Given the description of an element on the screen output the (x, y) to click on. 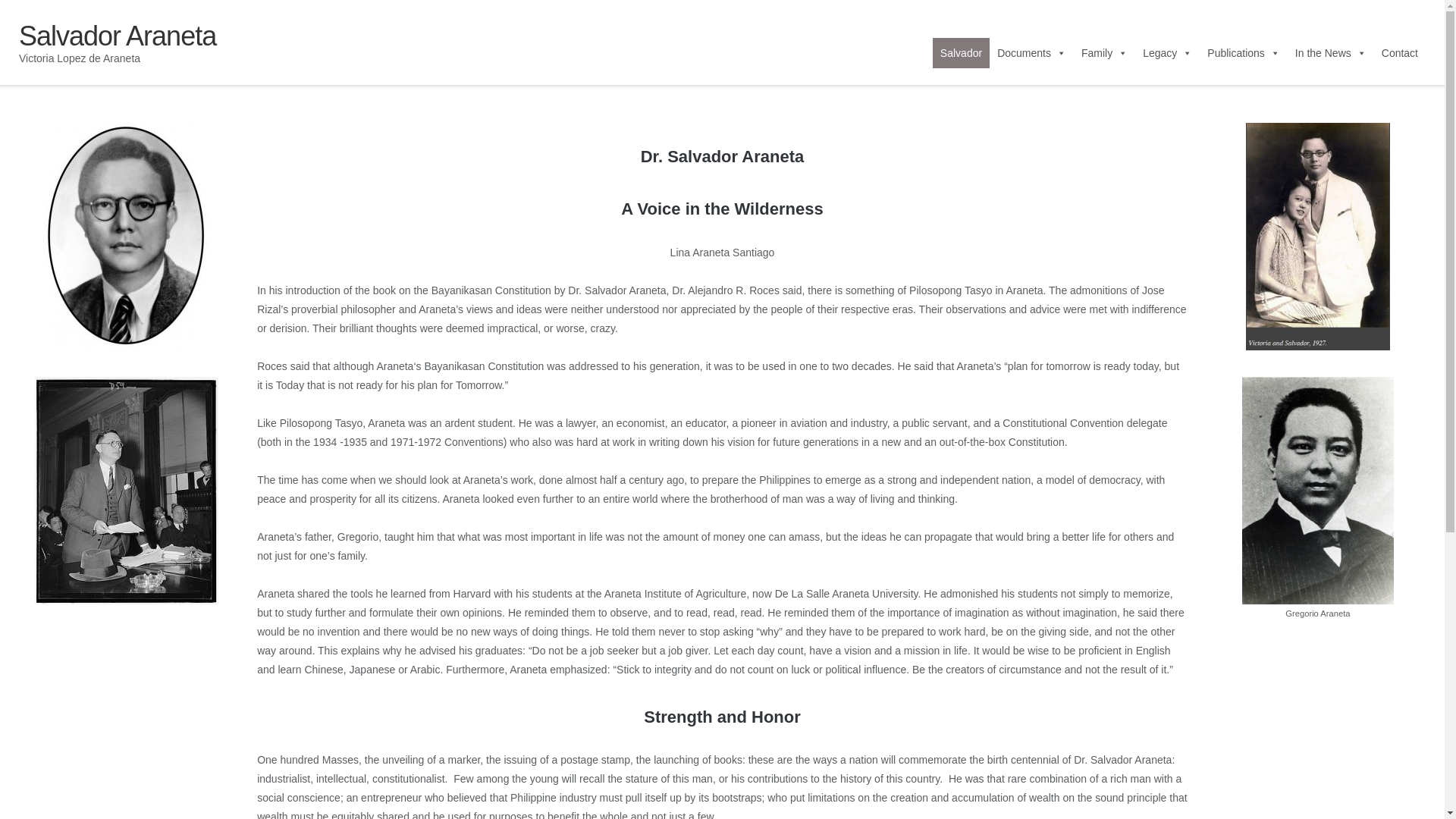
In the News (1330, 52)
Legacy (1167, 52)
Documents (1032, 52)
Family (1104, 52)
Salvador (961, 52)
Publications (1243, 52)
Contact (1399, 52)
Salvador Araneta (116, 36)
